Given the description of an element on the screen output the (x, y) to click on. 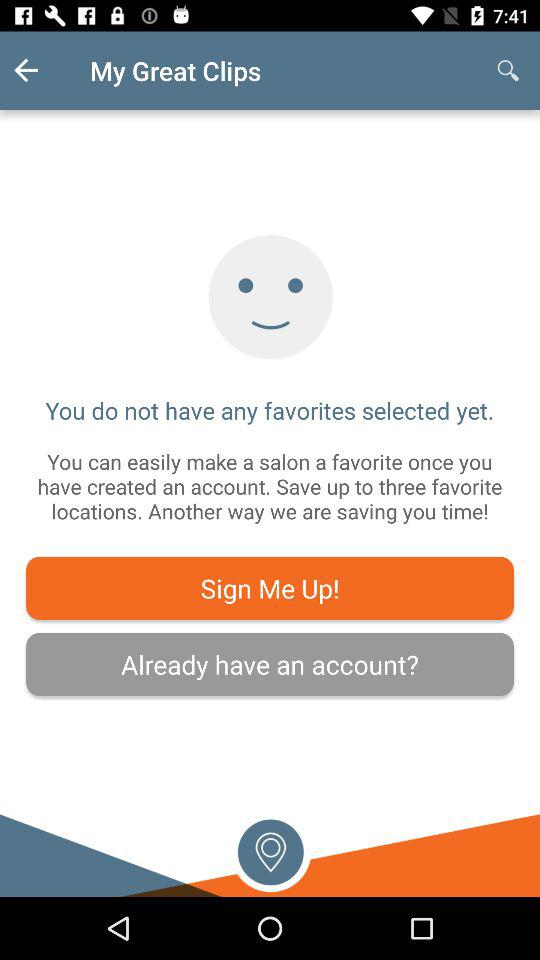
turn on the item below you can easily item (269, 587)
